Given the description of an element on the screen output the (x, y) to click on. 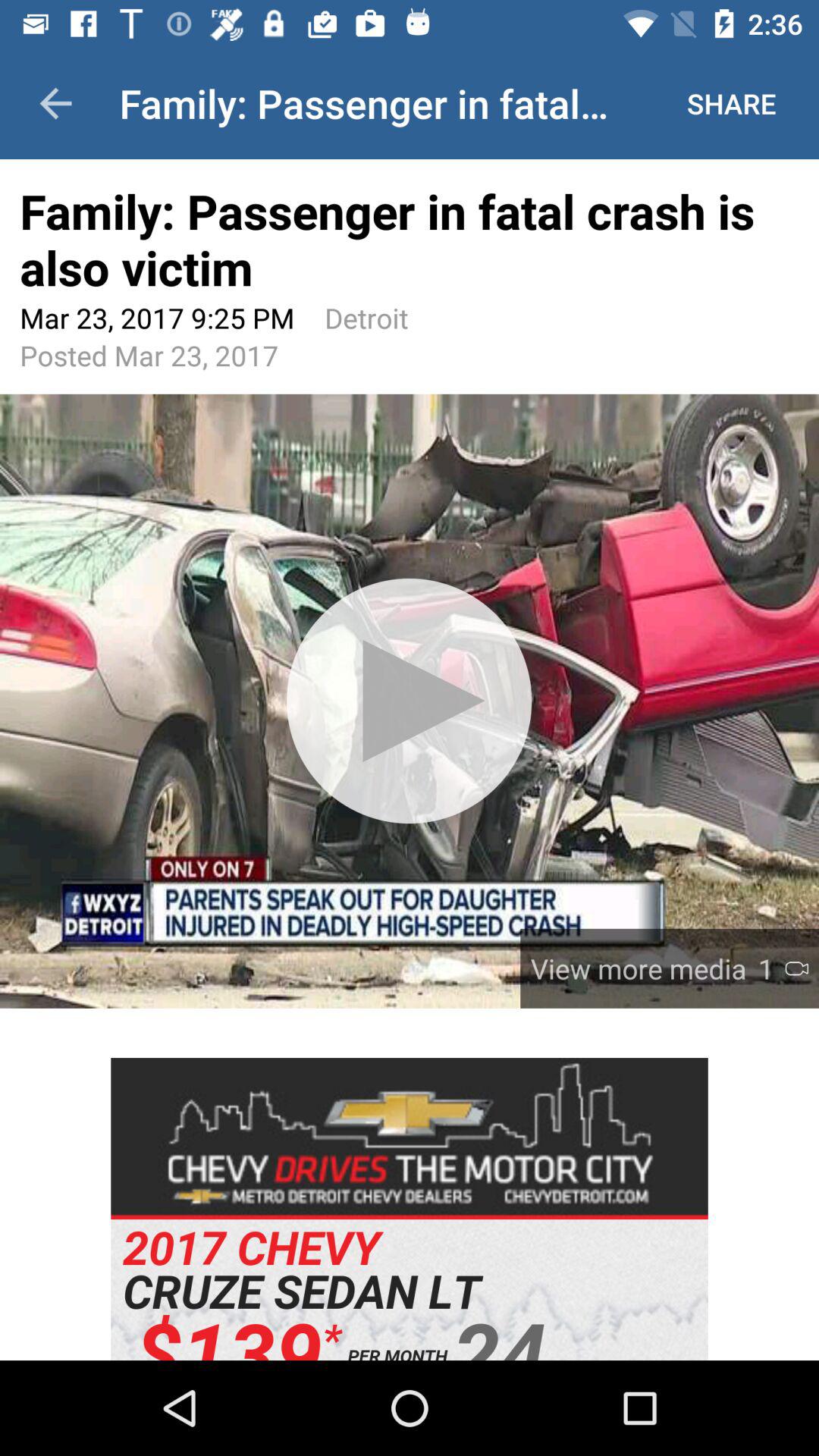
click share (731, 103)
